Given the description of an element on the screen output the (x, y) to click on. 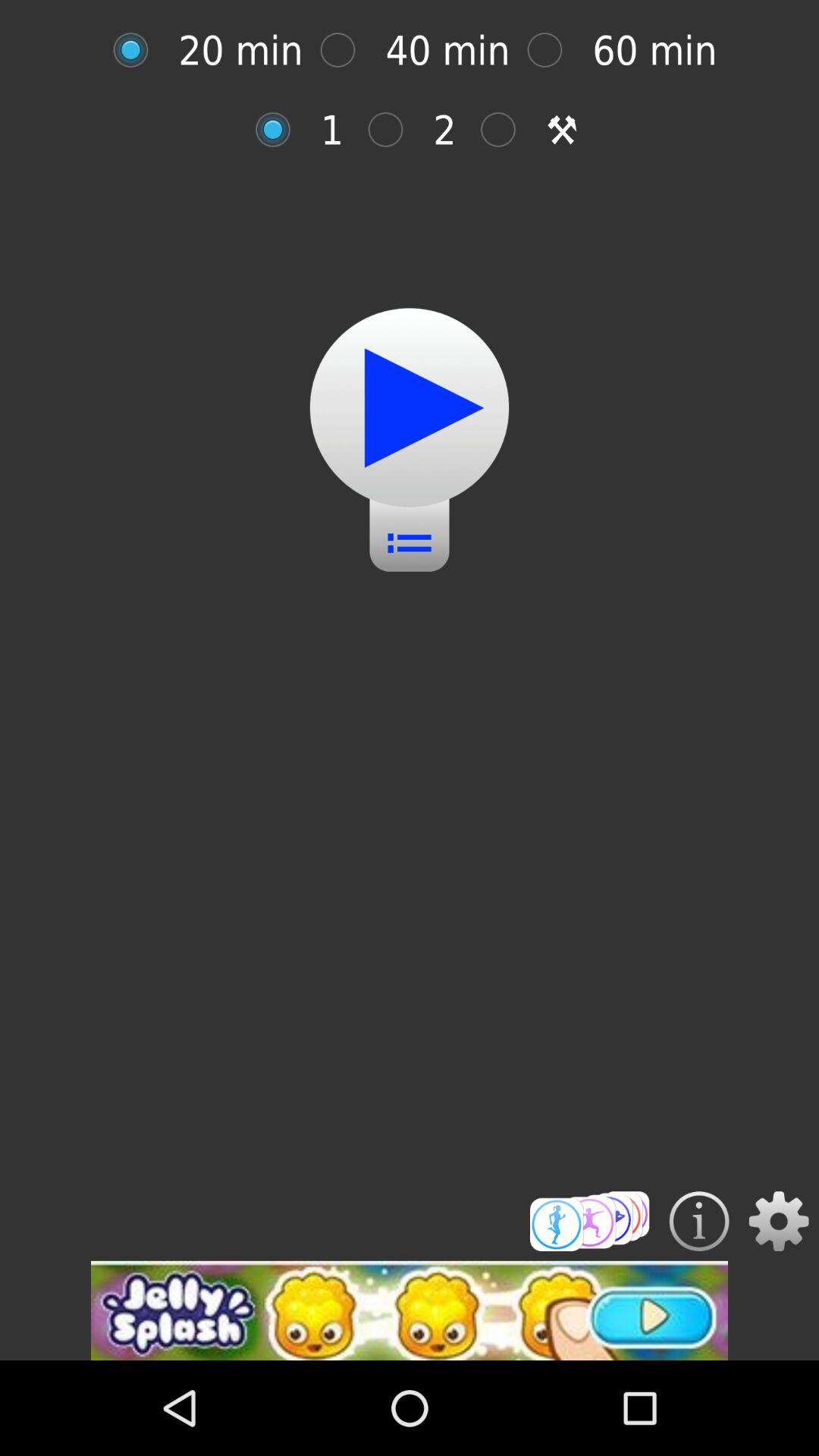
click for settings (778, 1221)
